Given the description of an element on the screen output the (x, y) to click on. 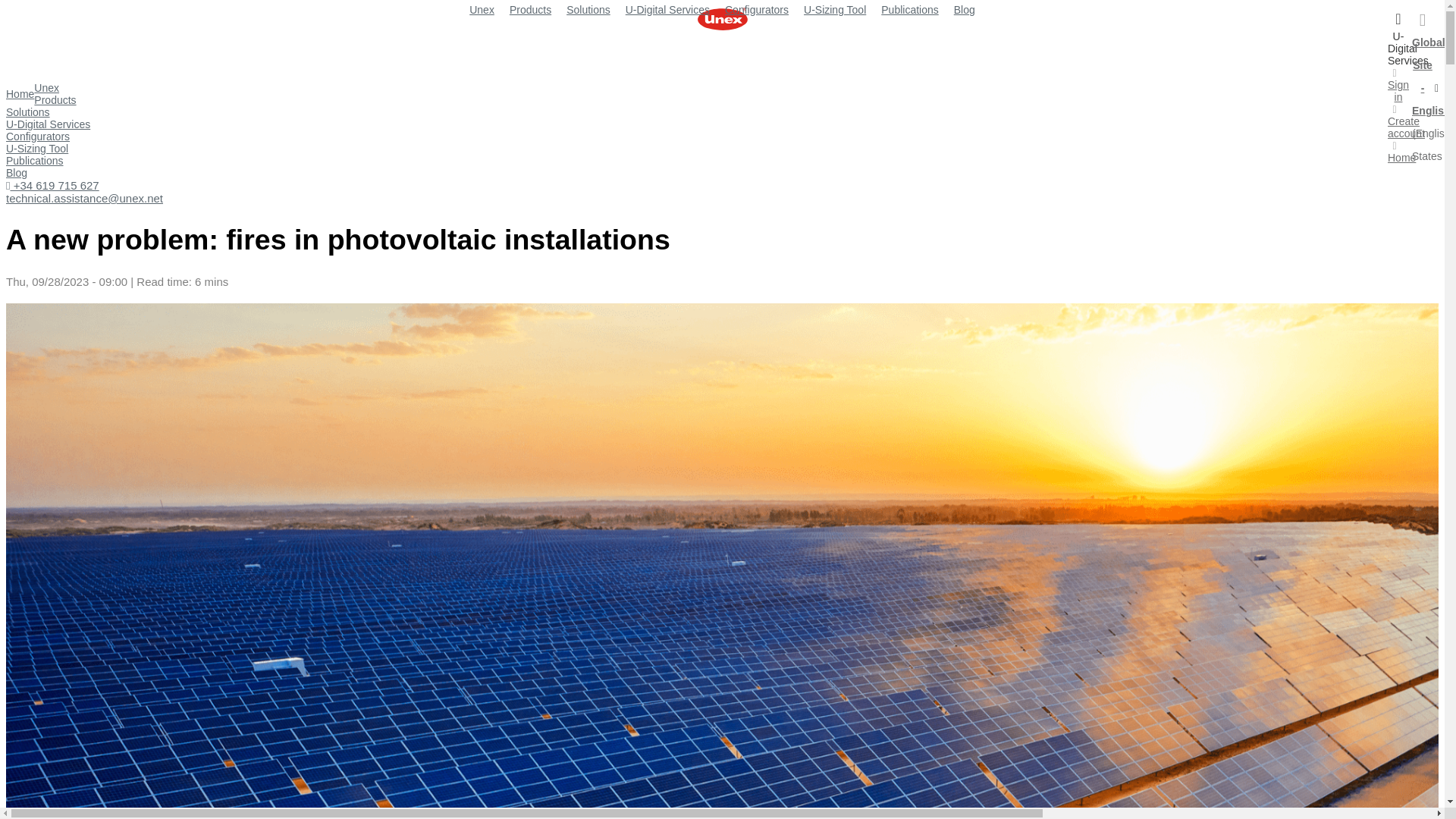
Publications (909, 9)
U-Sizing Tool (834, 9)
Create account (1406, 121)
Publications (34, 160)
Blog (964, 9)
U-Digital Services (47, 123)
Home (19, 93)
Products (54, 100)
Blog (16, 173)
U-Digital Services (668, 9)
Configurators (37, 136)
Unex (481, 9)
Products (530, 9)
Configurators (757, 9)
Home (1401, 151)
